Given the description of an element on the screen output the (x, y) to click on. 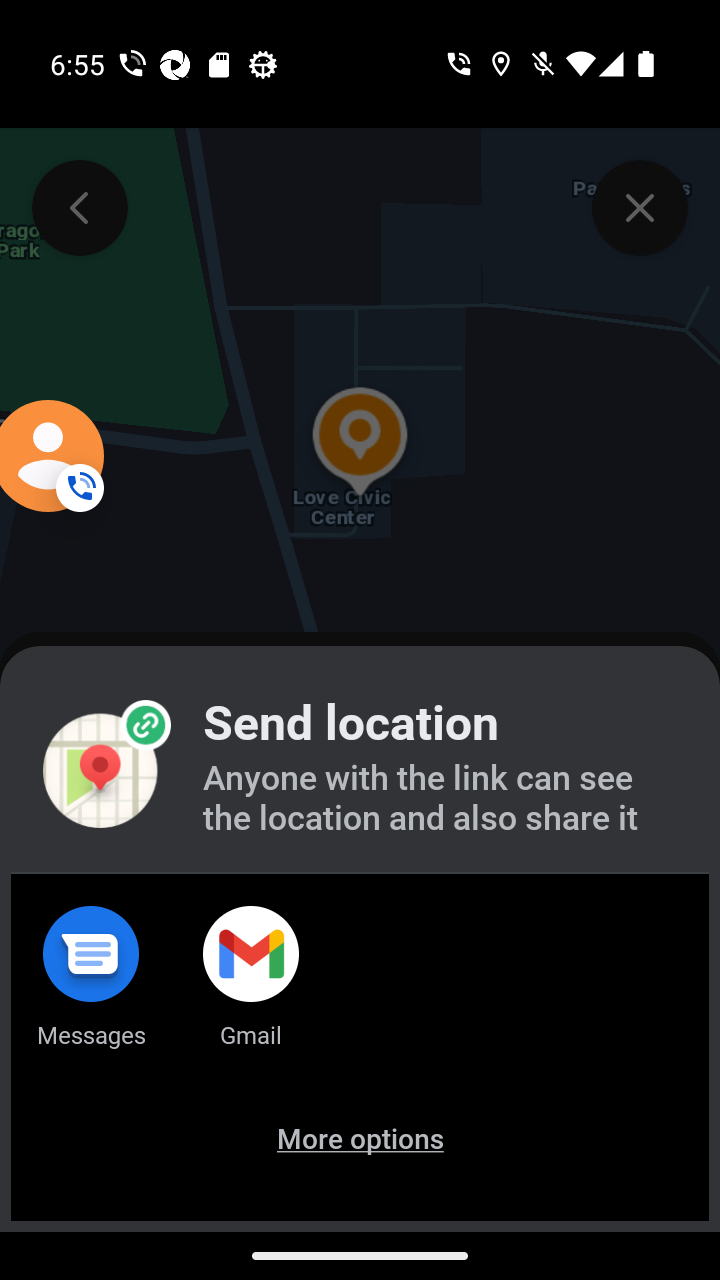
Messages (90, 992)
Gmail (251, 992)
More options (359, 1166)
